Given the description of an element on the screen output the (x, y) to click on. 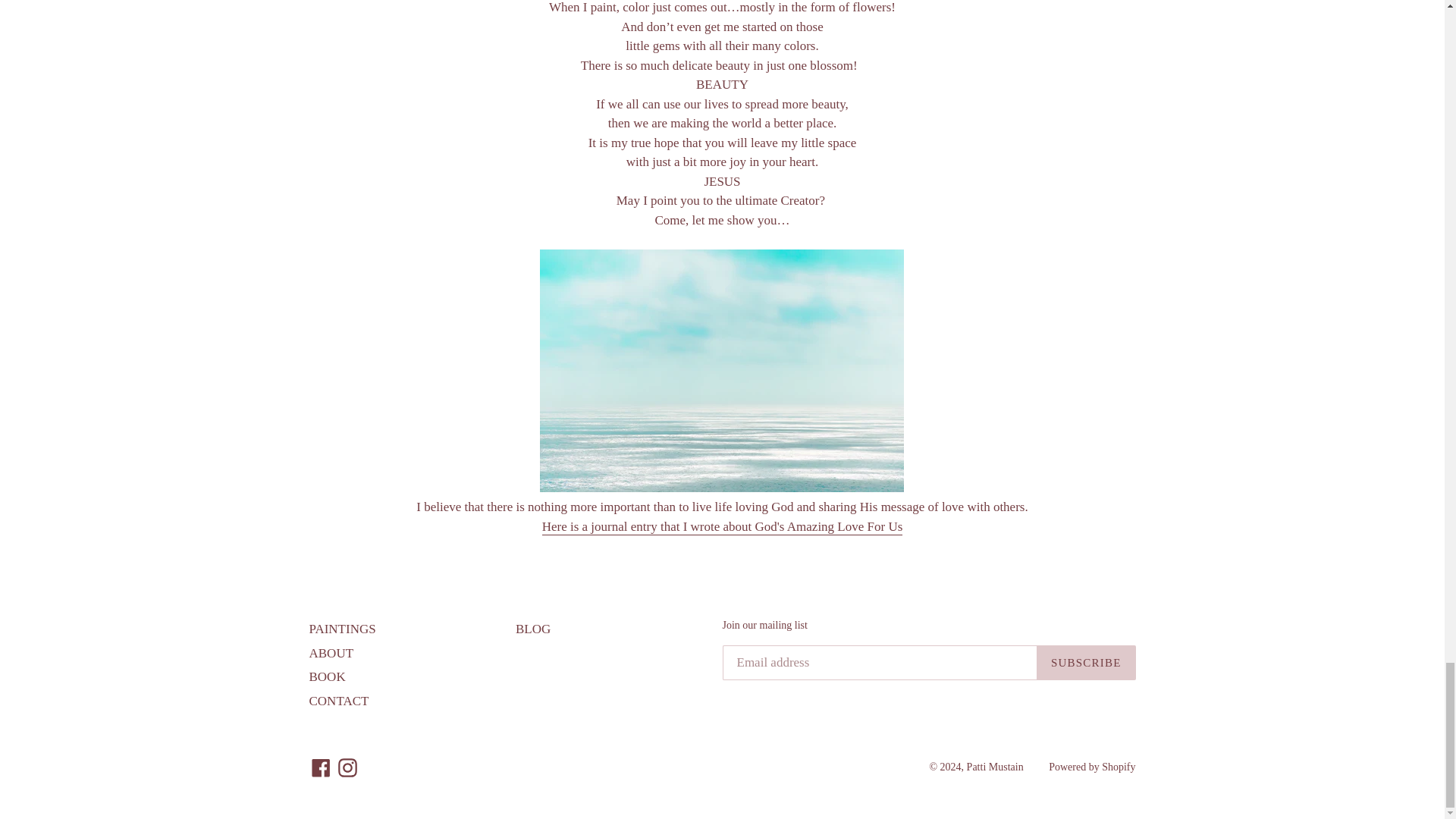
SUBSCRIBE (1085, 662)
Facebook (320, 767)
BOOK (327, 676)
CONTACT (338, 700)
Patti Mustain (996, 767)
ABOUT (330, 653)
Patti Mustain  on Facebook (320, 767)
Instagram (347, 767)
PAINTINGS (341, 628)
BLOG (532, 628)
